Given the description of an element on the screen output the (x, y) to click on. 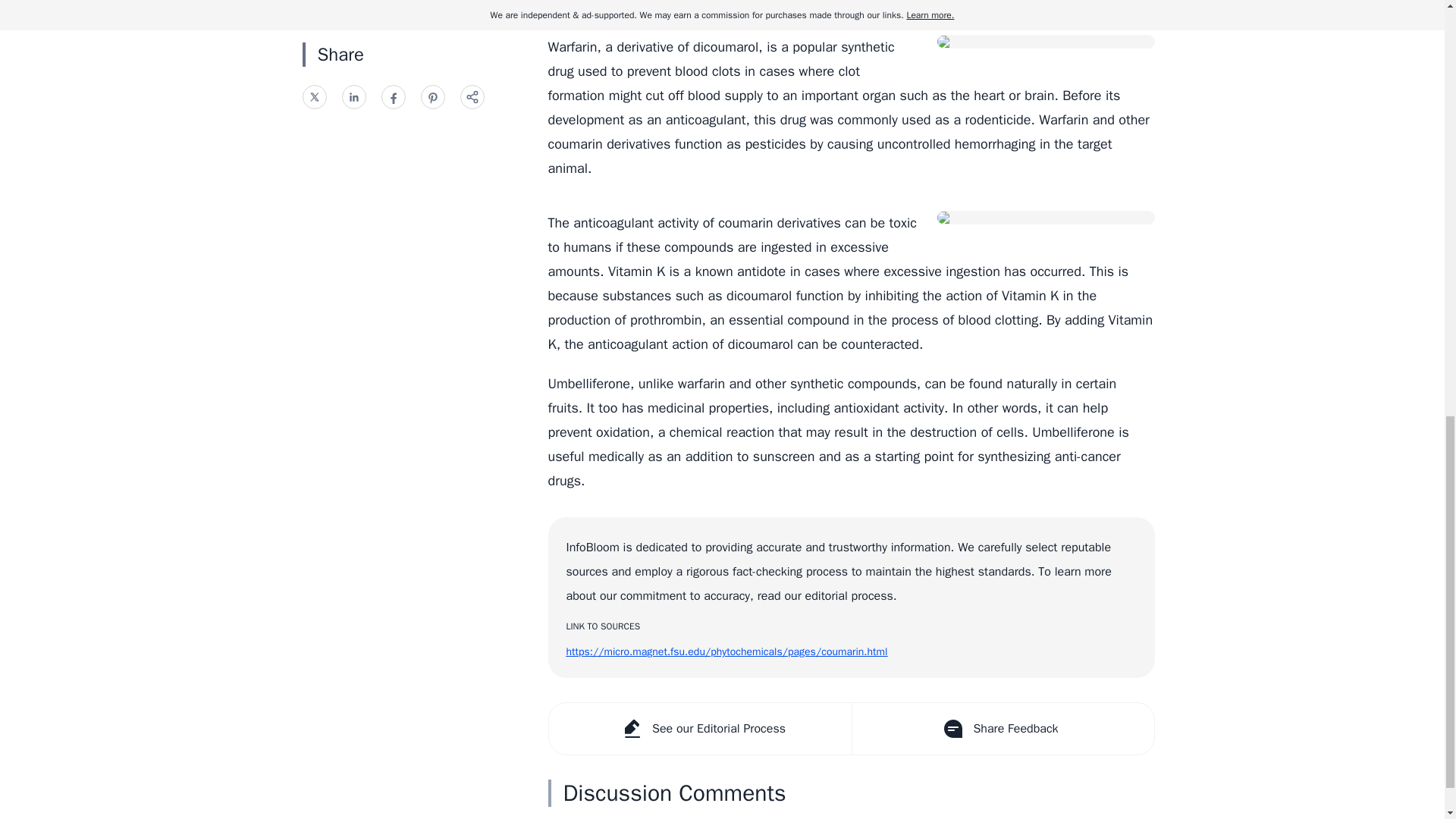
Share Feedback (1001, 728)
See our Editorial Process (699, 728)
